Given the description of an element on the screen output the (x, y) to click on. 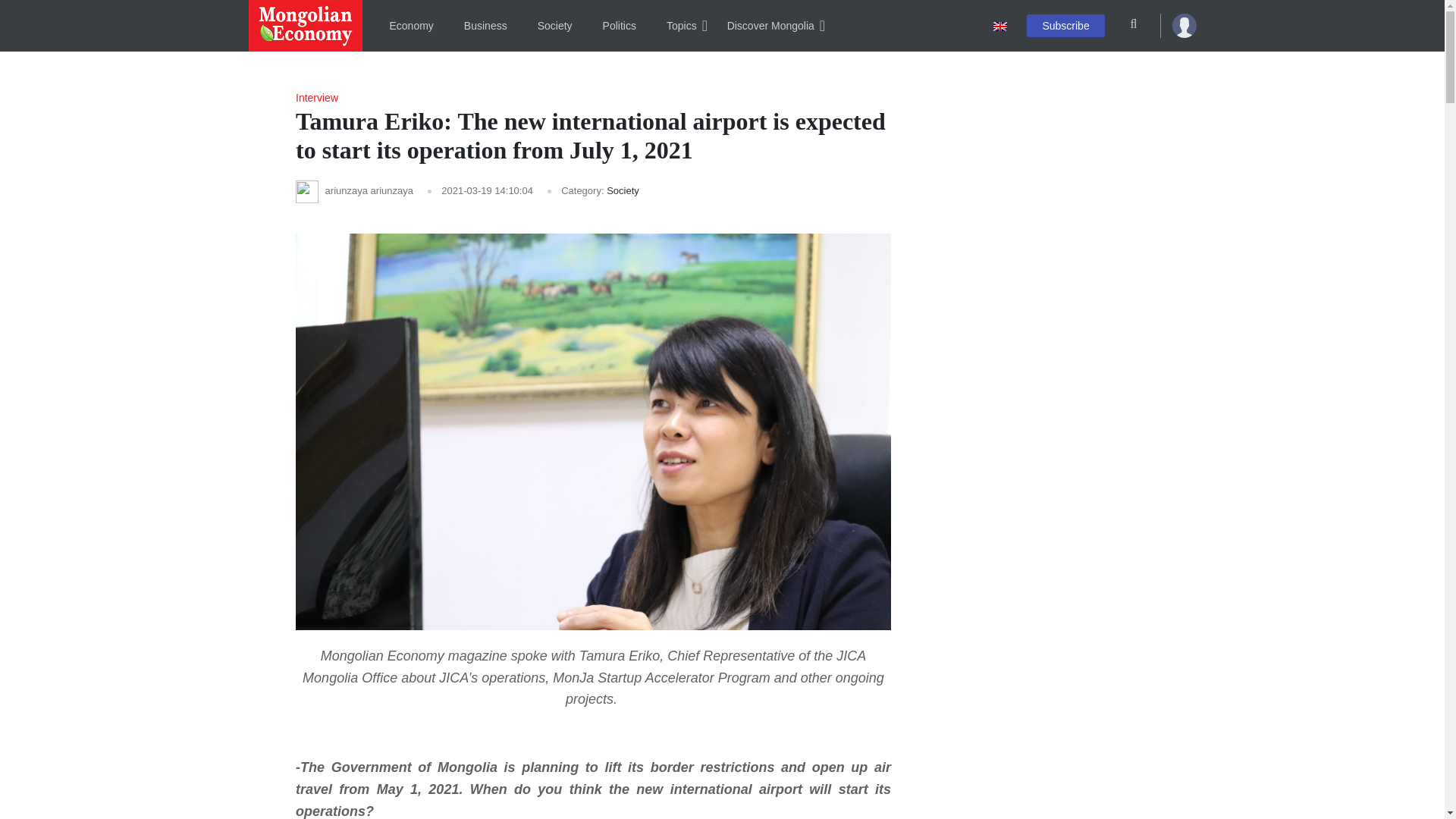
Society (555, 25)
Discover Mongolia (770, 25)
Business (485, 25)
Politics (619, 25)
Subscribe (1064, 24)
Economy (411, 25)
Topics (680, 25)
